Given the description of an element on the screen output the (x, y) to click on. 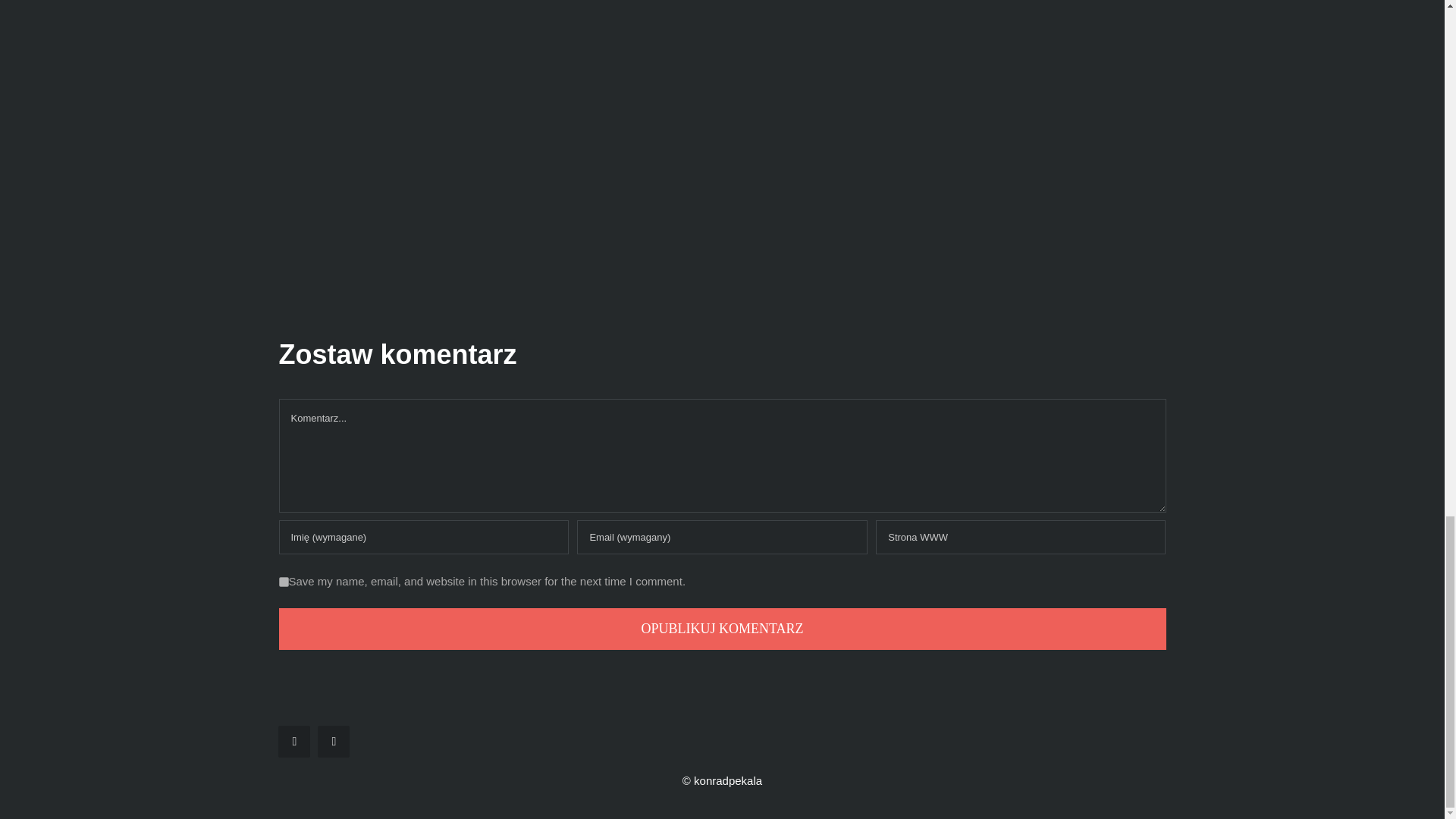
Facebook (294, 741)
yes (283, 582)
Phone (333, 741)
Opublikuj komentarz (722, 629)
Opublikuj komentarz (722, 629)
